Given the description of an element on the screen output the (x, y) to click on. 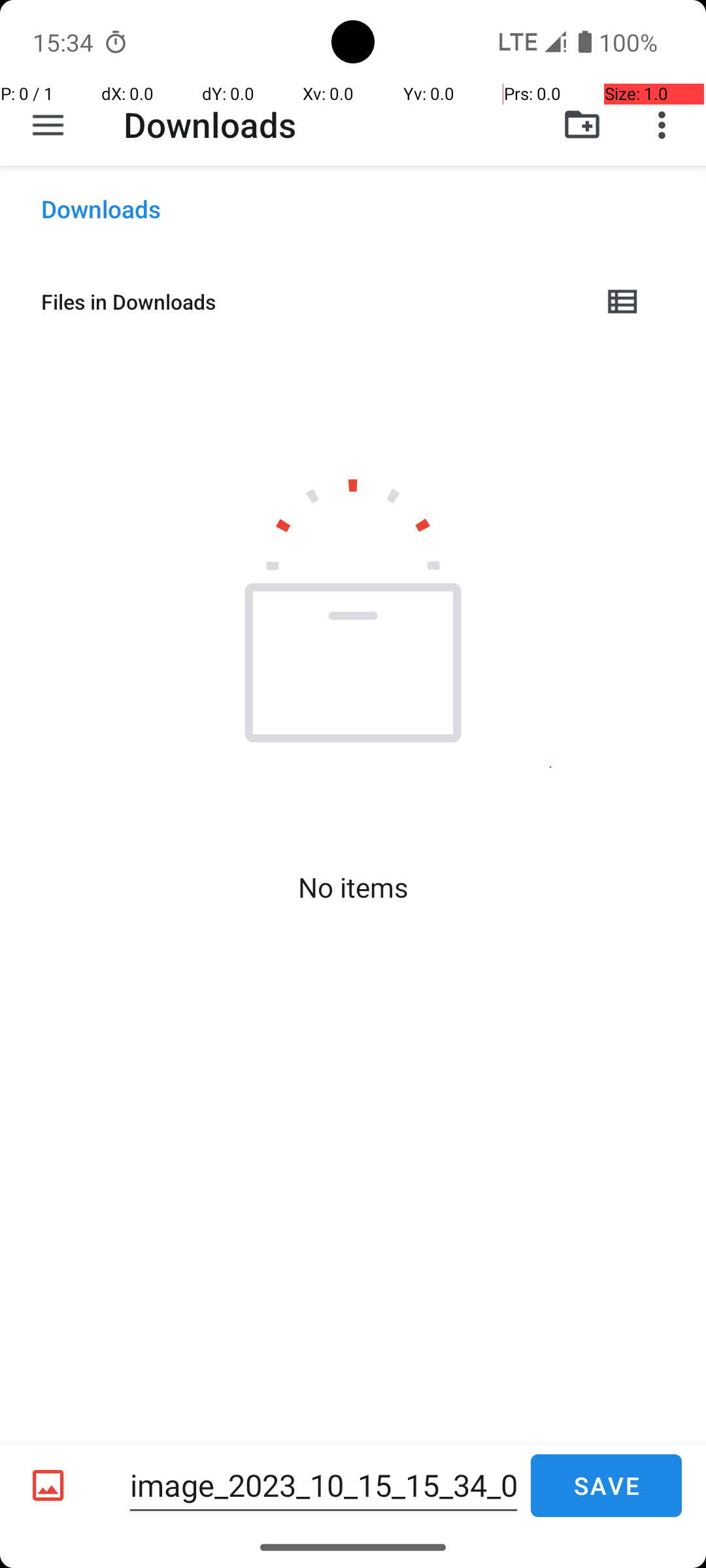
New folder Element type: android.widget.TextView (581, 124)
image_2023_10_15_15_34_08.png Element type: android.widget.EditText (323, 1485)
